Given the description of an element on the screen output the (x, y) to click on. 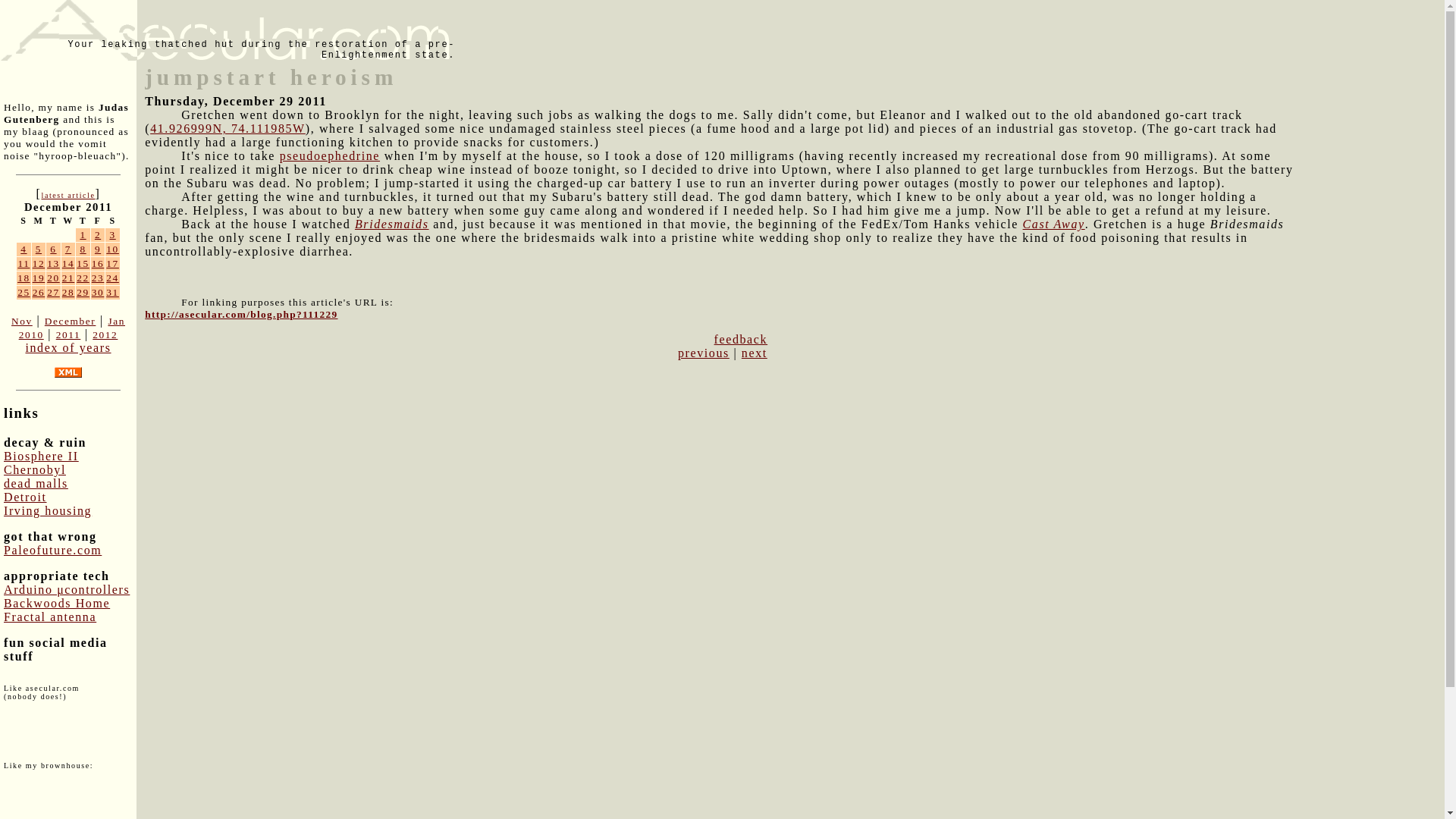
19 (38, 277)
index of years (67, 347)
15 (82, 263)
24 (112, 277)
22 (82, 277)
2010 (30, 334)
13 (52, 263)
10 (112, 248)
14 (68, 263)
23 (97, 277)
